Given the description of an element on the screen output the (x, y) to click on. 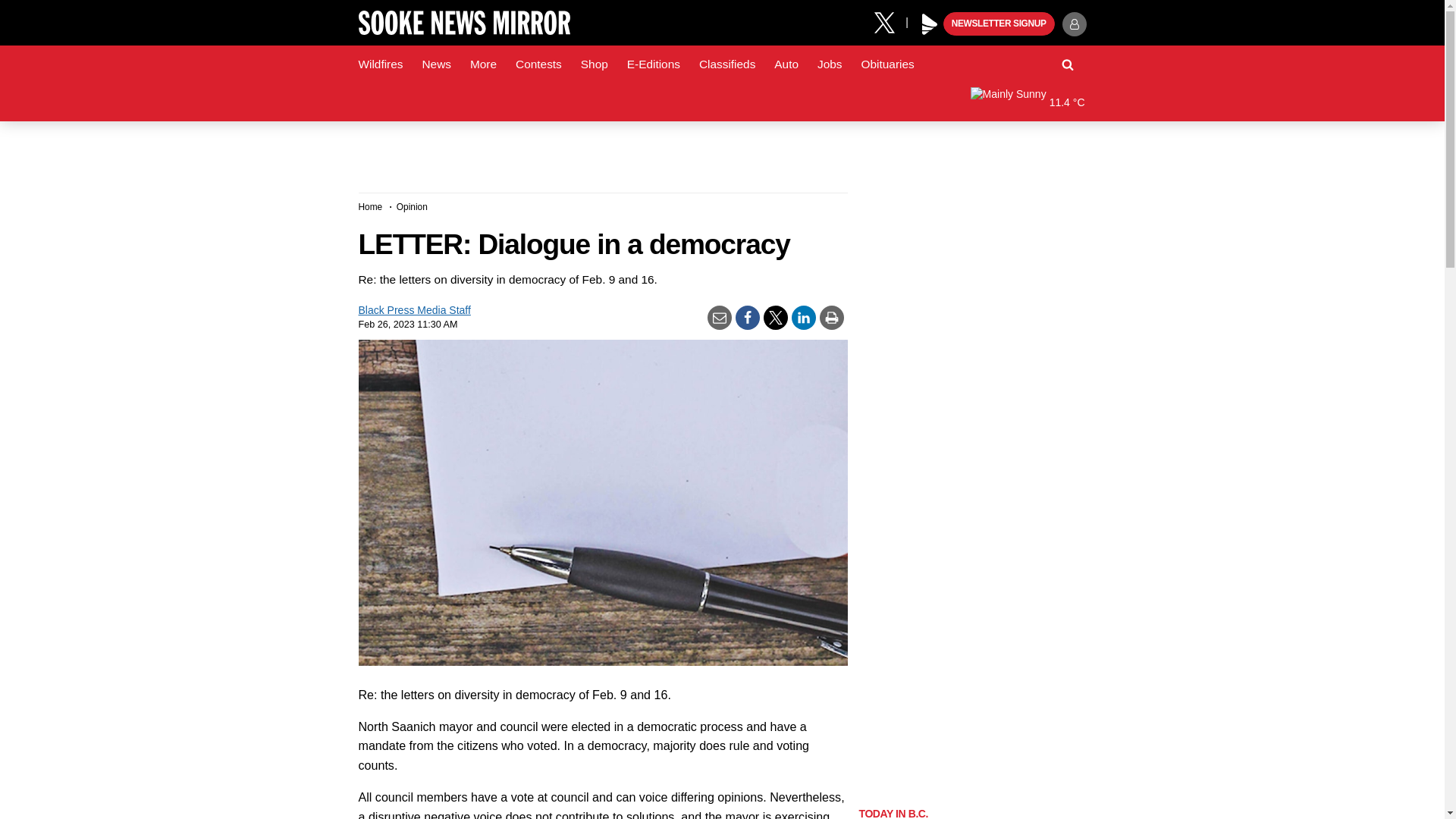
Wildfires (380, 64)
Play (929, 24)
Black Press Media (929, 24)
X (889, 21)
News (435, 64)
NEWSLETTER SIGNUP (998, 24)
